Given the description of an element on the screen output the (x, y) to click on. 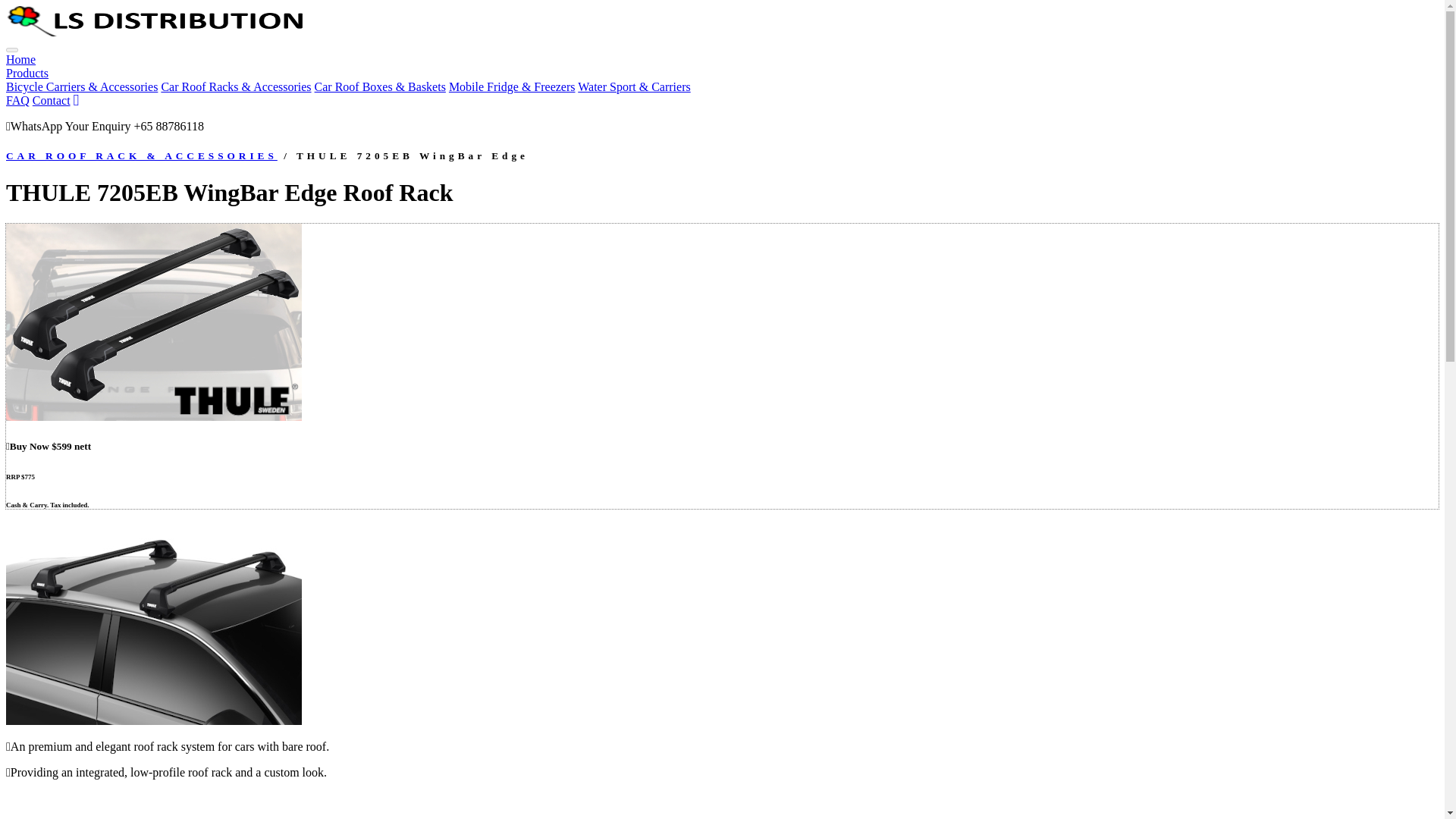
Contact (50, 100)
Home (19, 59)
FAQ (17, 100)
Products (26, 72)
